Given the description of an element on the screen output the (x, y) to click on. 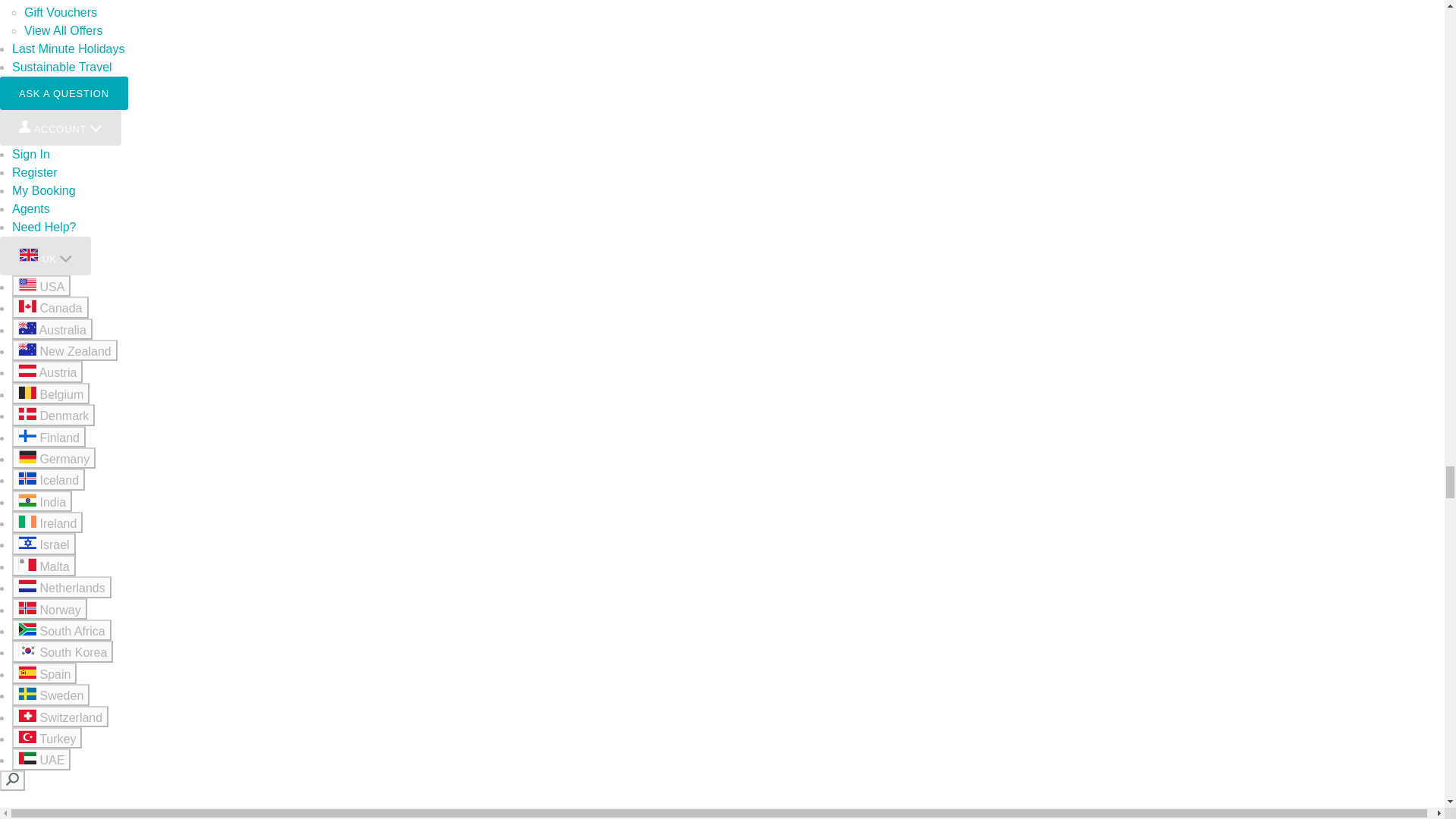
My Booking (43, 190)
Need Help? (44, 226)
Register (34, 172)
Agents (30, 208)
Sign In (30, 154)
